Given the description of an element on the screen output the (x, y) to click on. 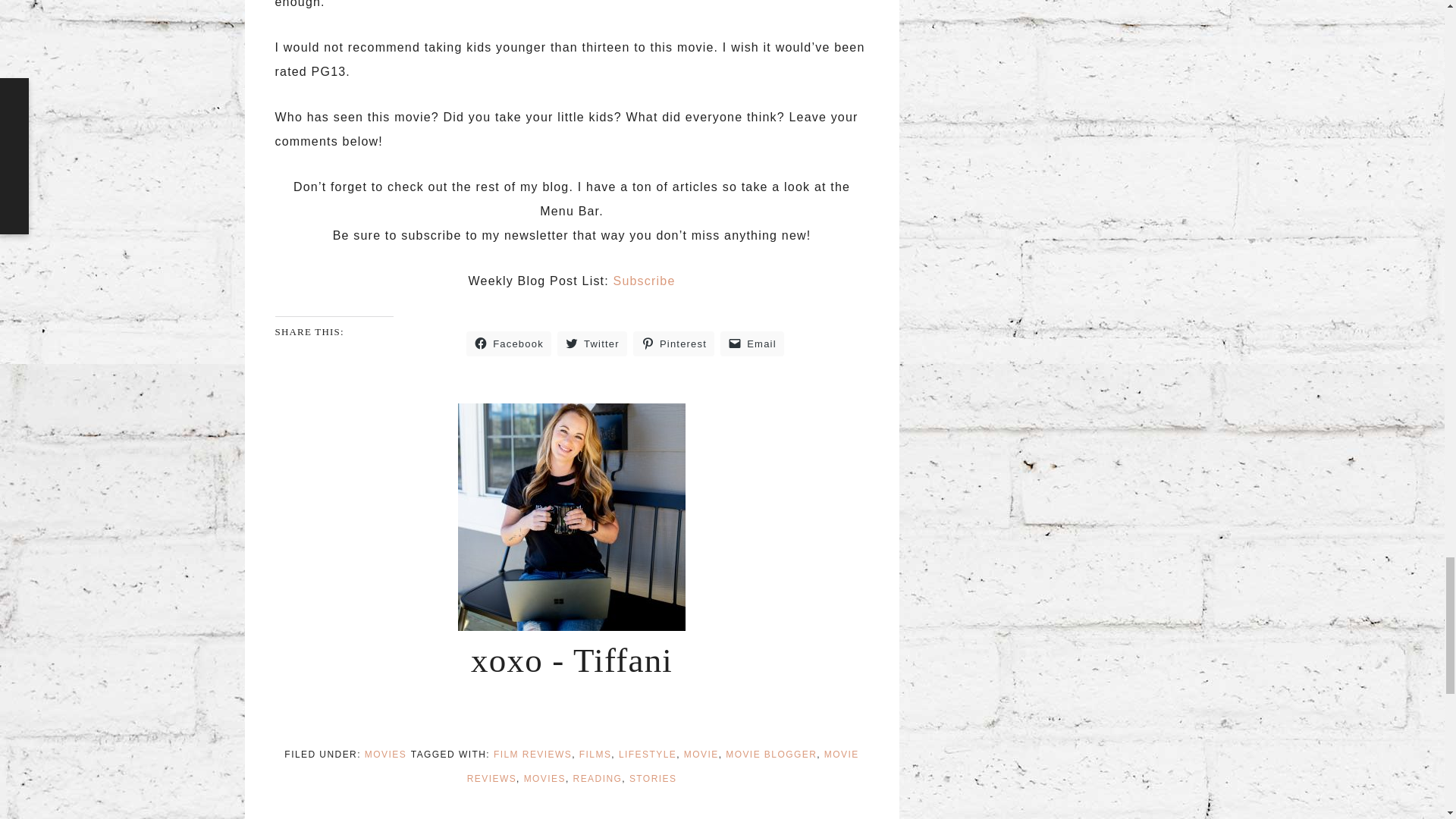
MOVIES (385, 754)
Twitter (592, 343)
Click to share on Facebook (508, 343)
Pinterest (673, 343)
FILM REVIEWS (532, 754)
FILMS (595, 754)
Click to share on Pinterest (673, 343)
Click to share on Twitter (592, 343)
Email (752, 343)
Facebook (508, 343)
